Given the description of an element on the screen output the (x, y) to click on. 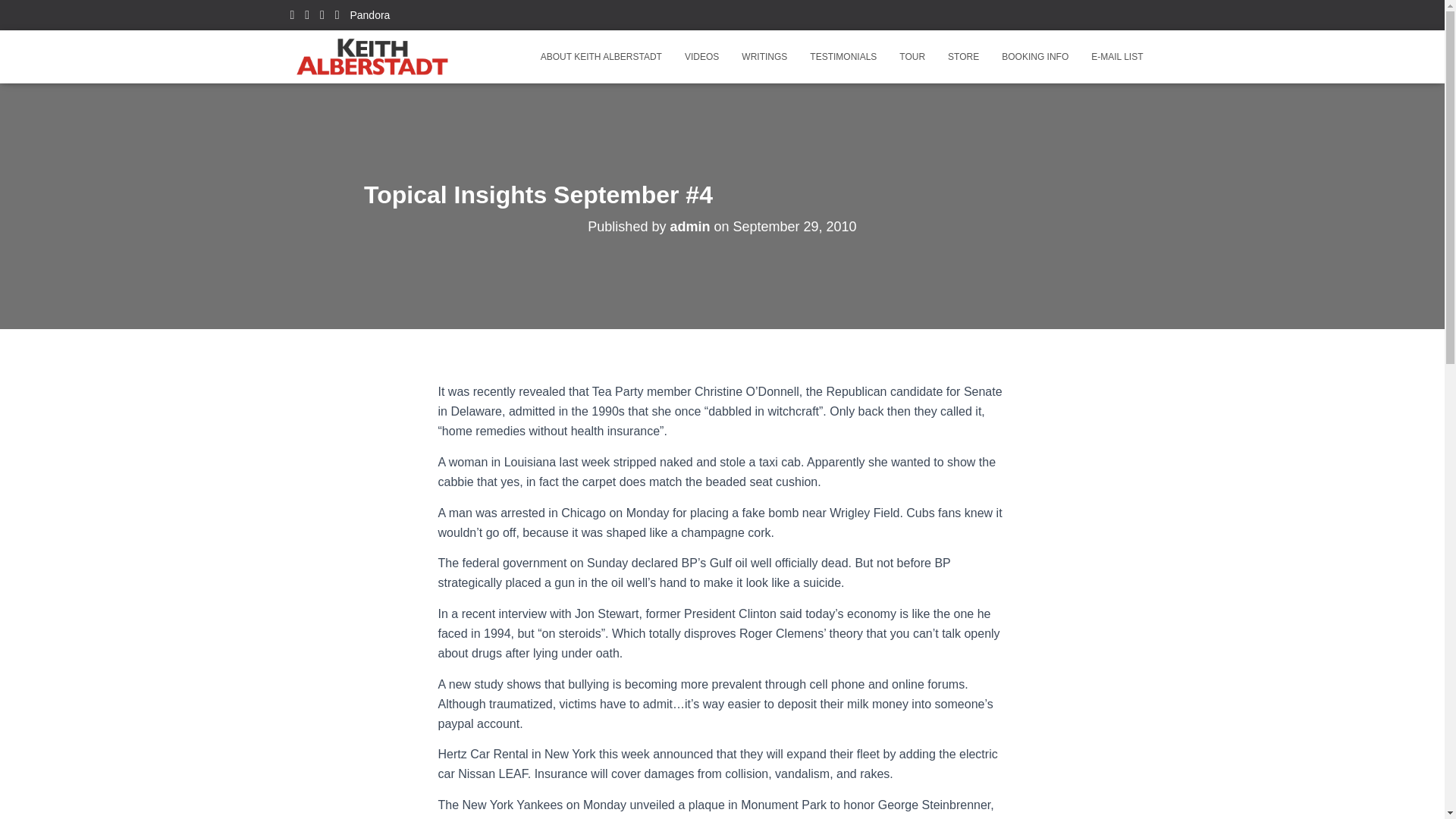
Booking Info (1035, 56)
WRITINGS (763, 56)
TOUR (912, 56)
Tour (912, 56)
E-mail List (1117, 56)
Videos (701, 56)
TESTIMONIALS (842, 56)
About Keith Alberstadt (600, 56)
Store (963, 56)
BOOKING INFO (1035, 56)
Testimonials (842, 56)
admin (689, 226)
Keith Alberstadt (373, 56)
VIDEOS (701, 56)
Pandora (369, 15)
